Given the description of an element on the screen output the (x, y) to click on. 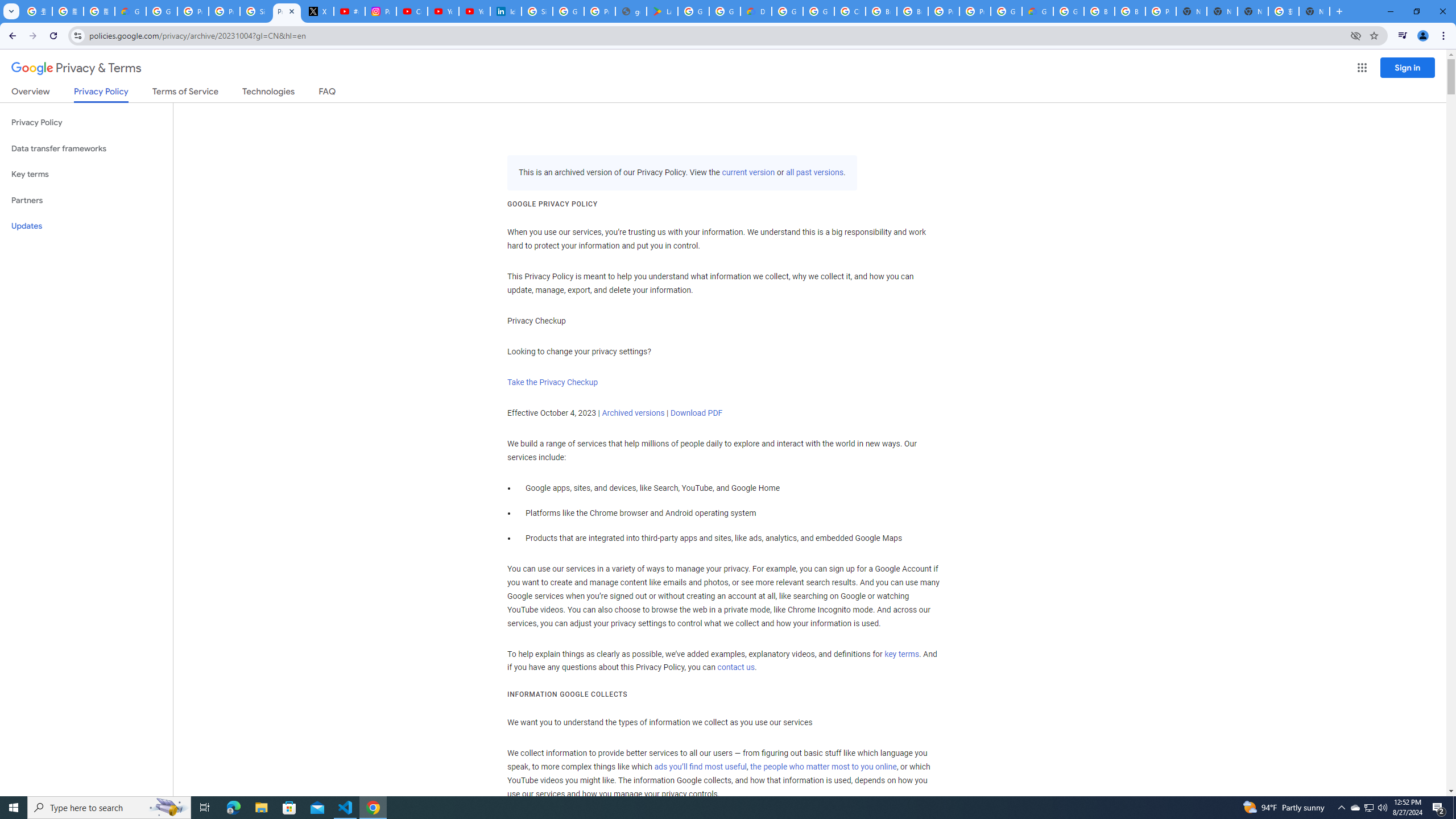
Browse Chrome as a guest - Computer - Google Chrome Help (1098, 11)
Google Cloud Estimate Summary (1037, 11)
Browse Chrome as a guest - Computer - Google Chrome Help (1129, 11)
Key terms (86, 174)
key terms (900, 653)
Browse Chrome as a guest - Computer - Google Chrome Help (912, 11)
contact us (735, 667)
